Given the description of an element on the screen output the (x, y) to click on. 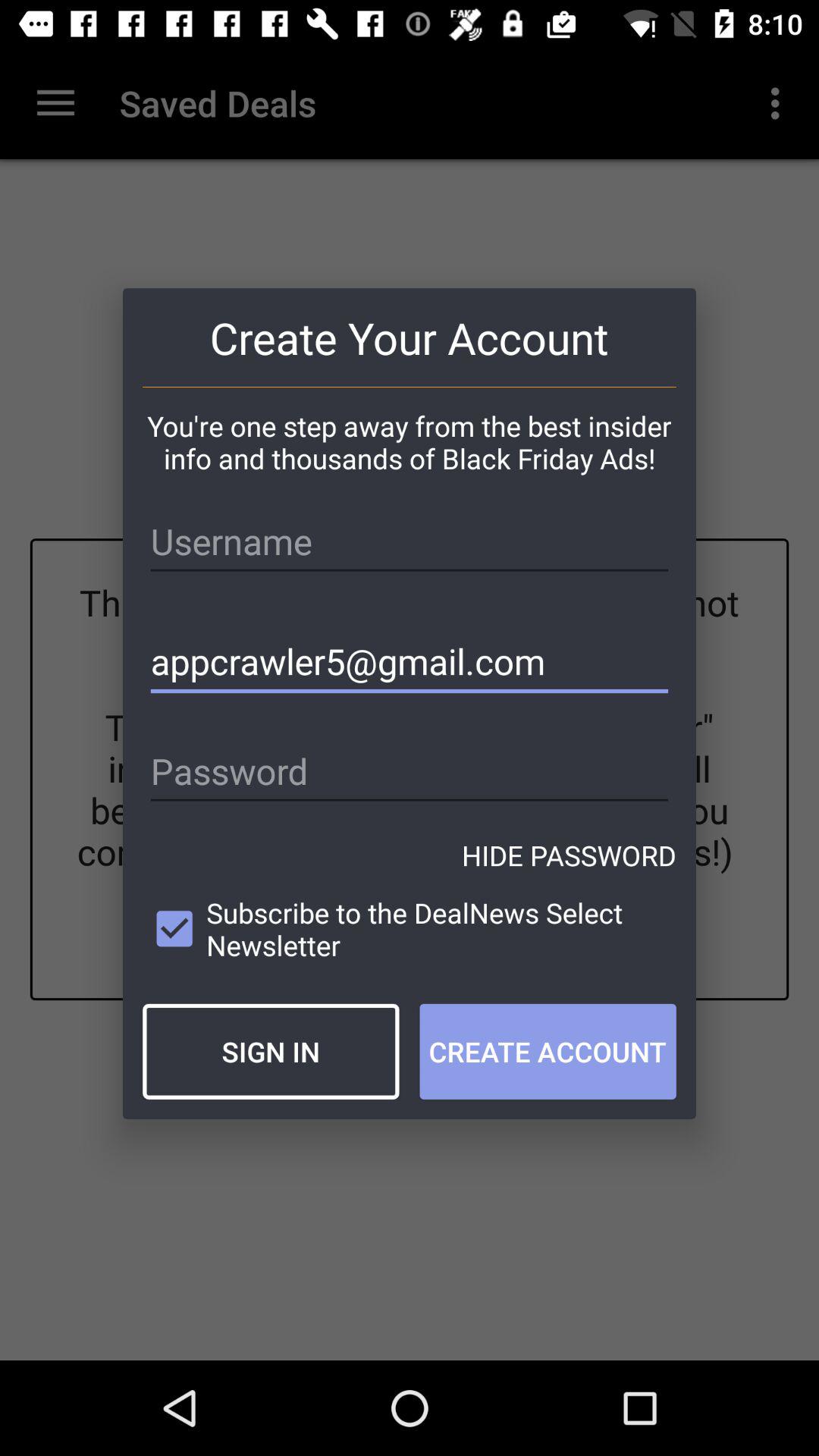
open item next to create account icon (270, 1051)
